Given the description of an element on the screen output the (x, y) to click on. 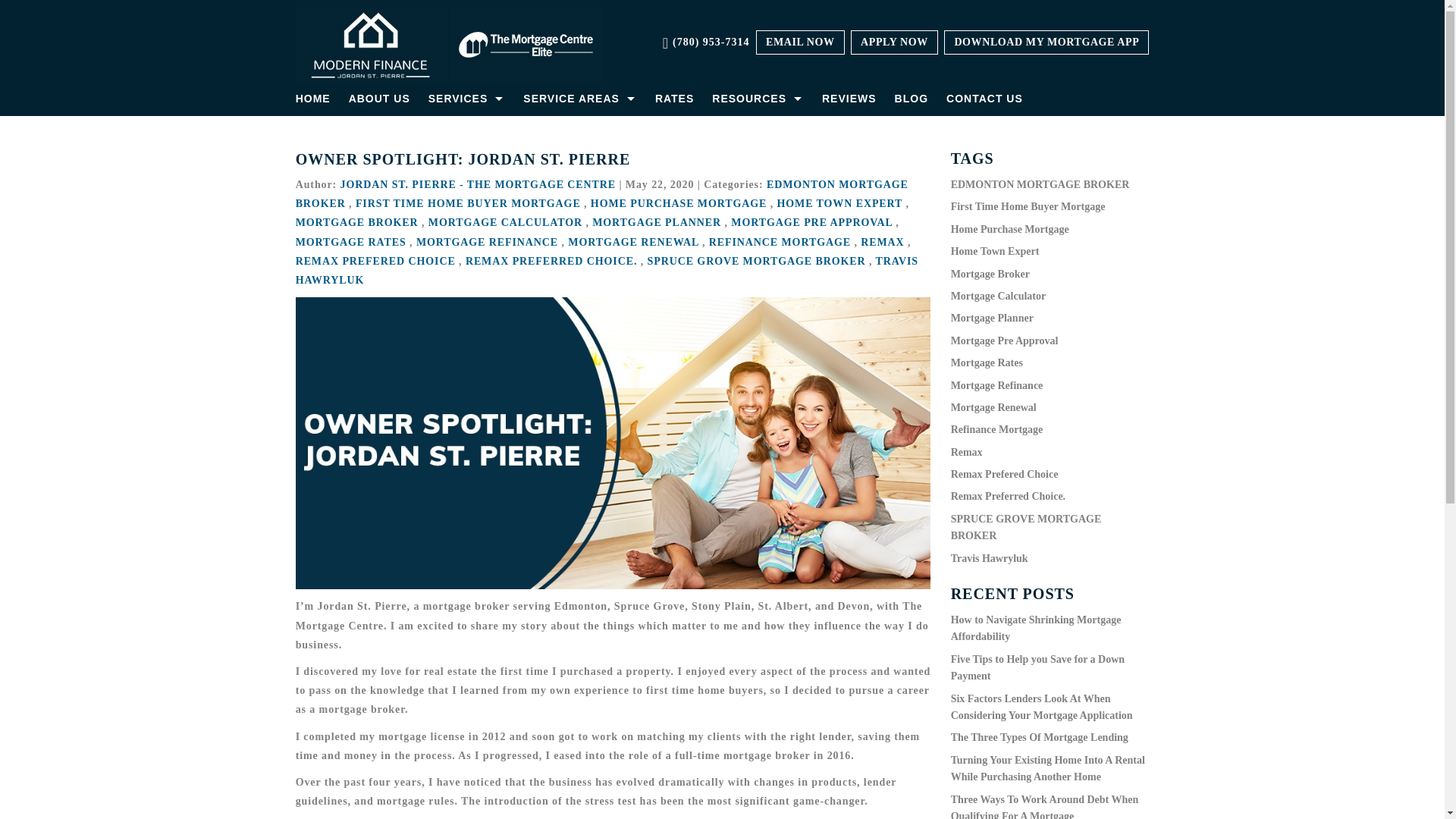
RESOURCES (757, 98)
BLOG (911, 98)
SERVICES (467, 98)
HOME (317, 98)
CONTACT US (984, 98)
DOWNLOAD MY MORTGAGE APP (1045, 42)
RATES (674, 98)
APPLY NOW (893, 42)
ABOUT US (379, 98)
REVIEWS (848, 98)
